Given the description of an element on the screen output the (x, y) to click on. 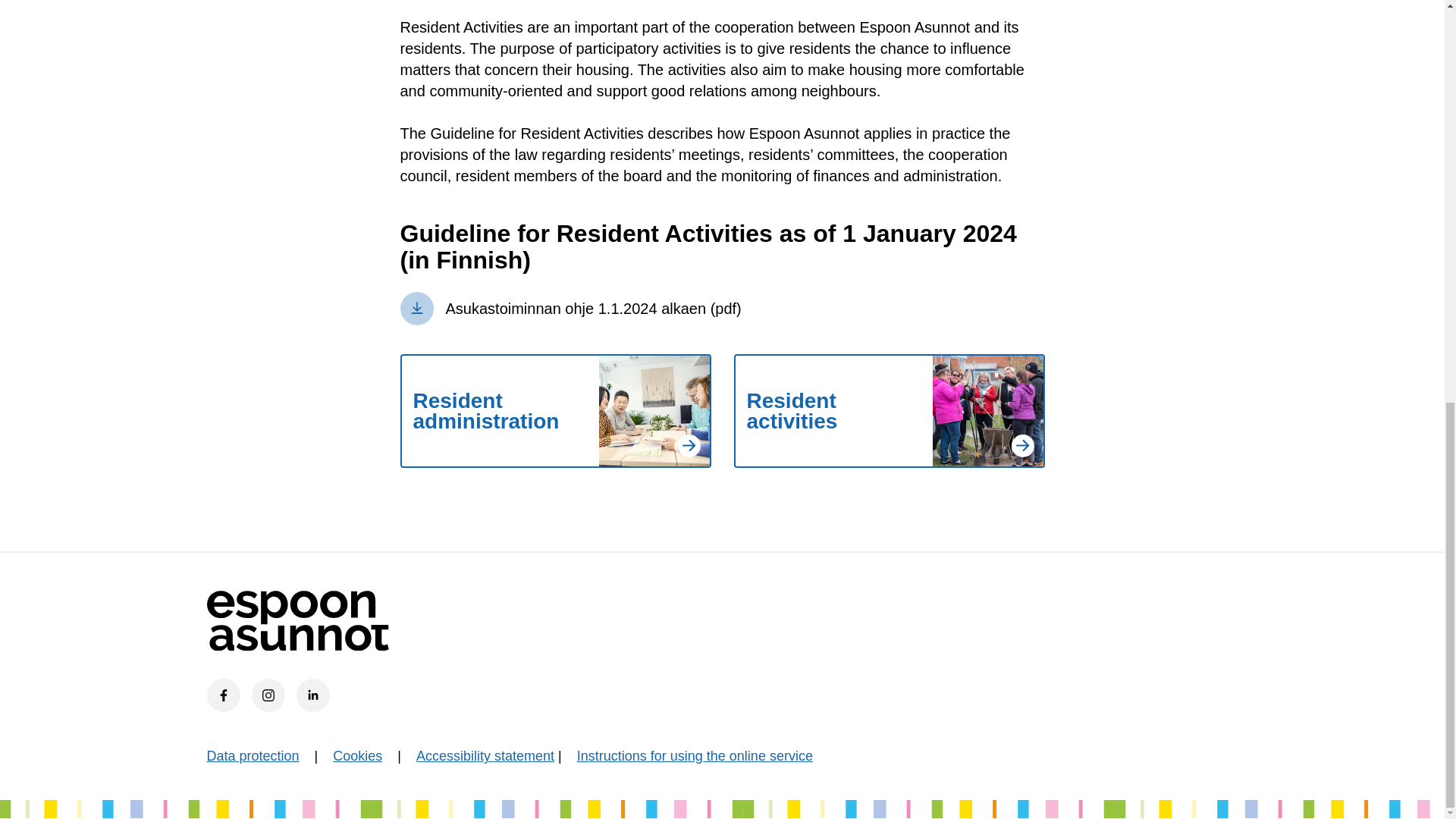
Espoon asunnot in Instagram (268, 694)
Espoon asunnot in Facebook (223, 694)
Espoon asunnot in Linkedin (312, 694)
